Given the description of an element on the screen output the (x, y) to click on. 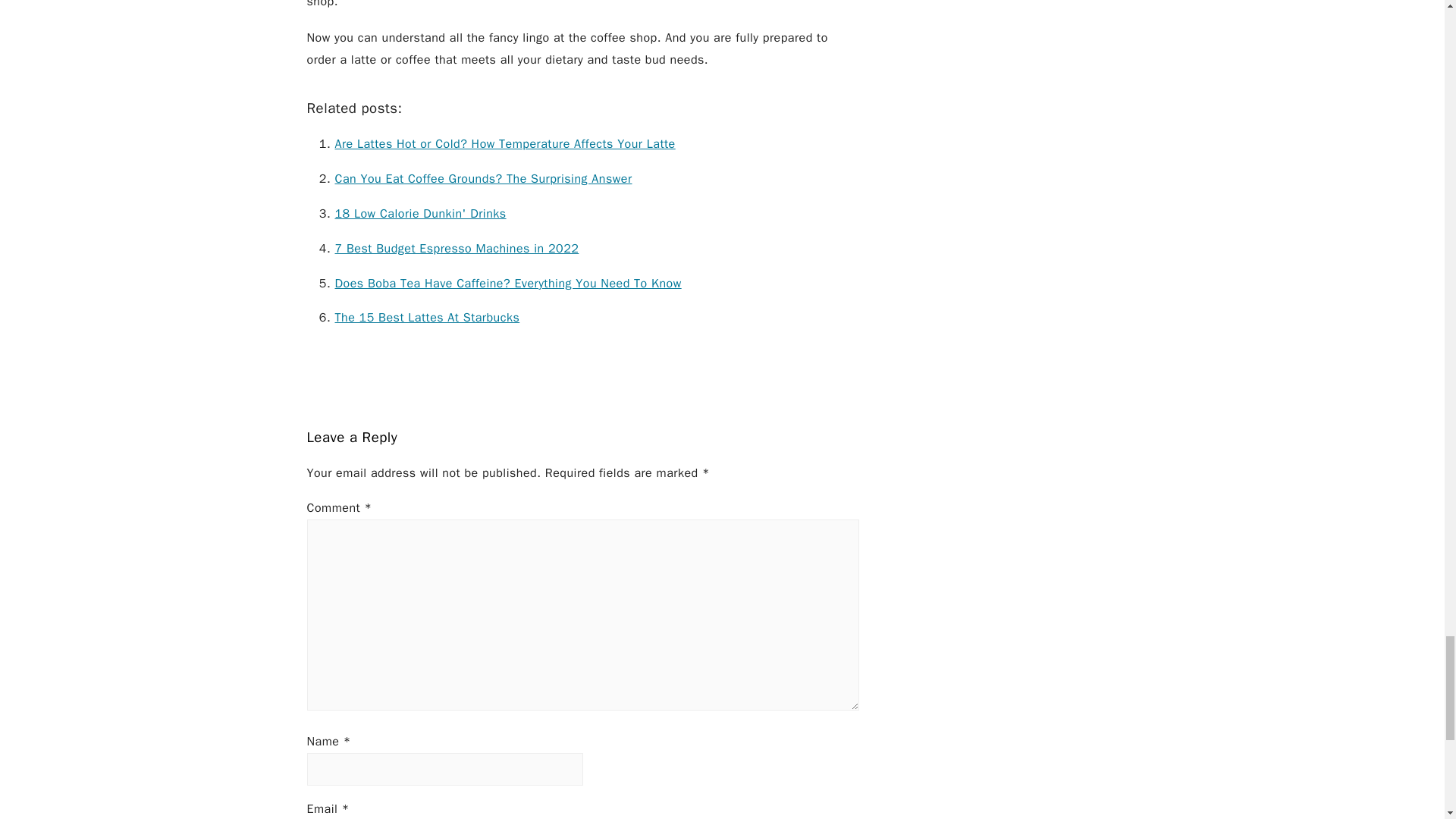
18 Low Calorie Dunkin' Drinks (420, 213)
Does Boba Tea Have Caffeine? Everything You Need To Know (507, 283)
Are Lattes Hot or Cold? How Temperature Affects Your Latte (504, 143)
The 15 Best Lattes At Starbucks (426, 317)
7 Best Budget Espresso Machines in 2022 (456, 248)
Can You Eat Coffee Grounds? The Surprising Answer (482, 178)
